Given the description of an element on the screen output the (x, y) to click on. 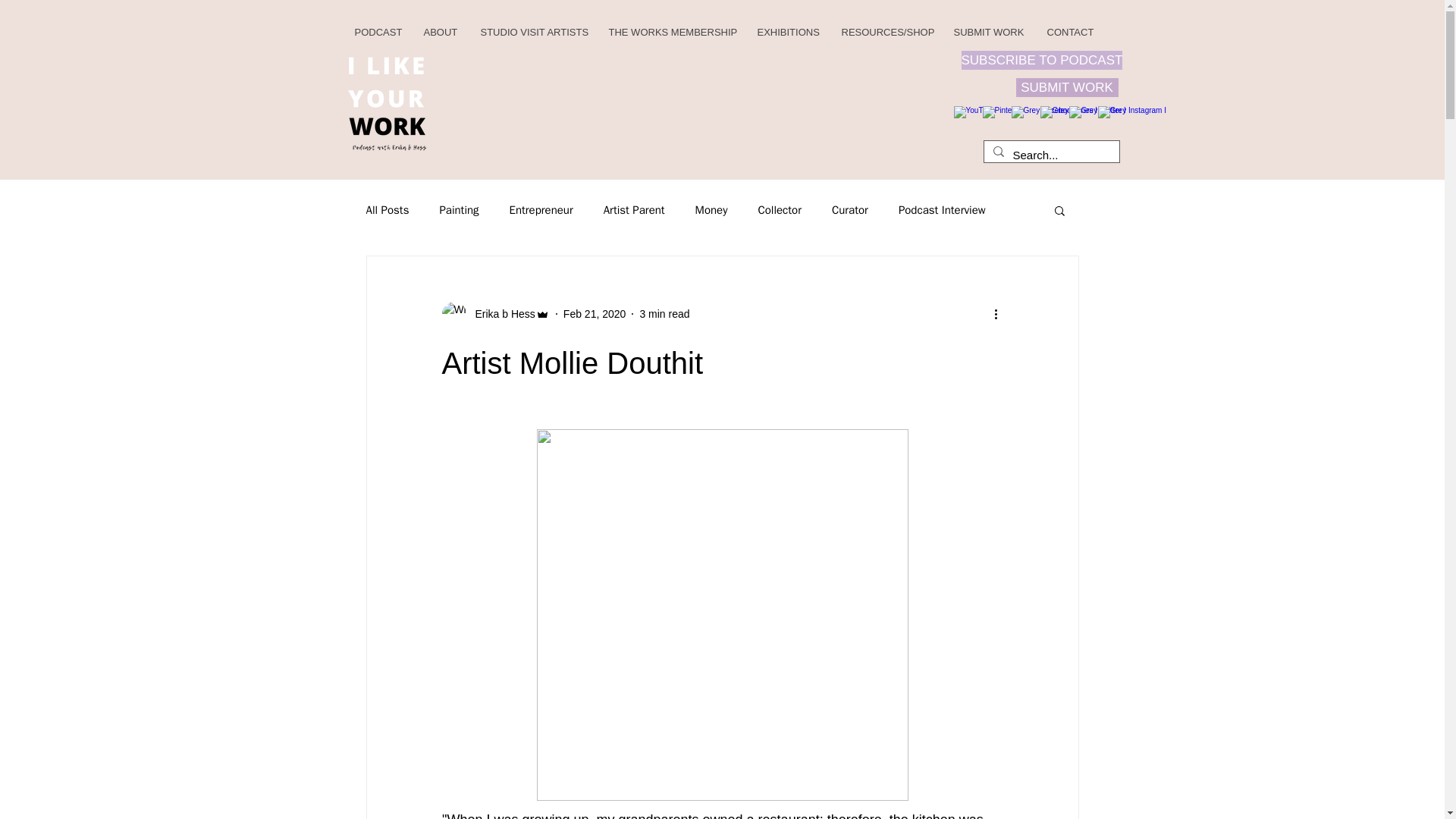
EXHIBITIONS (786, 31)
Erika b Hess (499, 314)
SUBMIT WORK (988, 31)
3 min read (663, 313)
PODCAST (377, 31)
THE WORKS MEMBERSHIP (669, 31)
Feb 21, 2020 (594, 313)
STUDIO VISIT ARTISTS (532, 31)
ABOUT (438, 31)
